Given the description of an element on the screen output the (x, y) to click on. 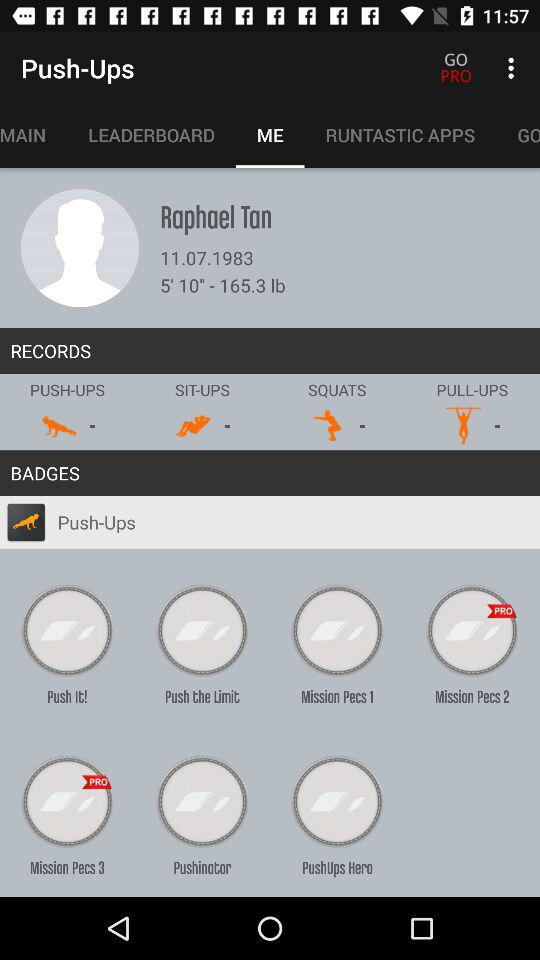
click icon to the left of go pro! icon (400, 135)
